Given the description of an element on the screen output the (x, y) to click on. 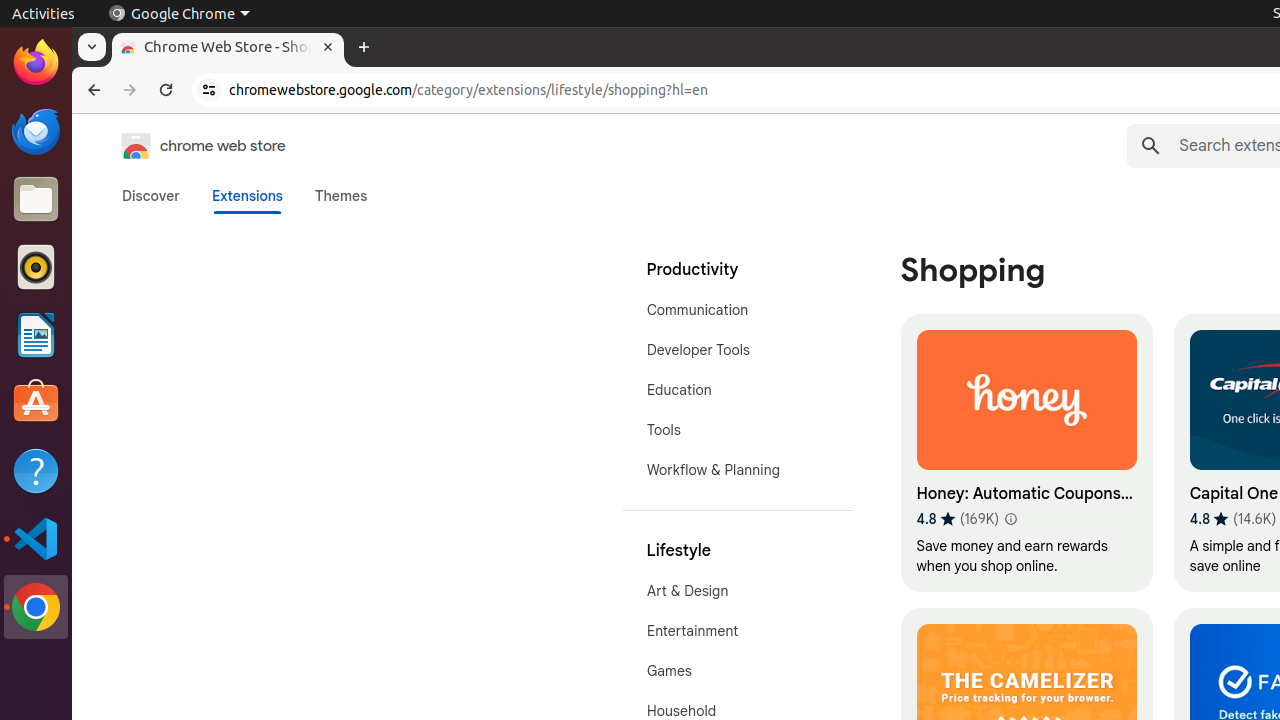
Honey: Automatic Coupons & Rewards Element type: link (1026, 453)
Chrome Web Store logo chrome web store Element type: link (183, 146)
Productivity Element type: menu-item (737, 270)
Firefox Web Browser Element type: push-button (36, 63)
Communication Element type: menu-item (737, 310)
